Given the description of an element on the screen output the (x, y) to click on. 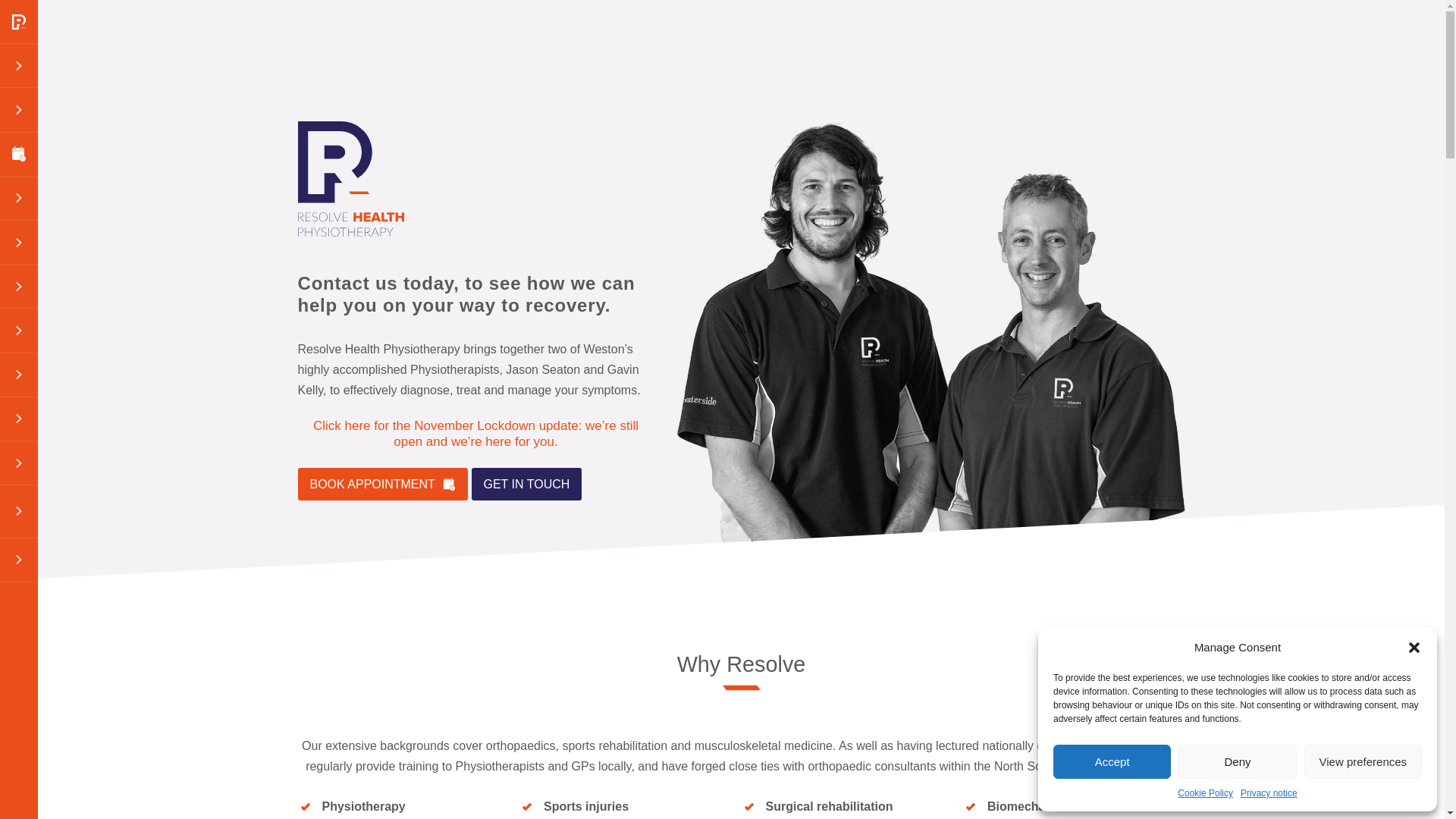
FAQS (113, 330)
Privacy notice (1268, 793)
ABOUT US (113, 198)
COVID-19 UPDATE PRACTICE PROTOCOLS (113, 65)
Cookie Policy (1205, 793)
View preferences (1363, 761)
BOOKINGS (113, 154)
VIDEO AND PHONE CONSULTATIONS (113, 109)
TREATMENT (113, 285)
PRIVACY NOTICE (113, 462)
VIDEOS (113, 559)
HOME (113, 21)
Deny (1236, 761)
PHYSIOTHERAPY (113, 241)
